Given the description of an element on the screen output the (x, y) to click on. 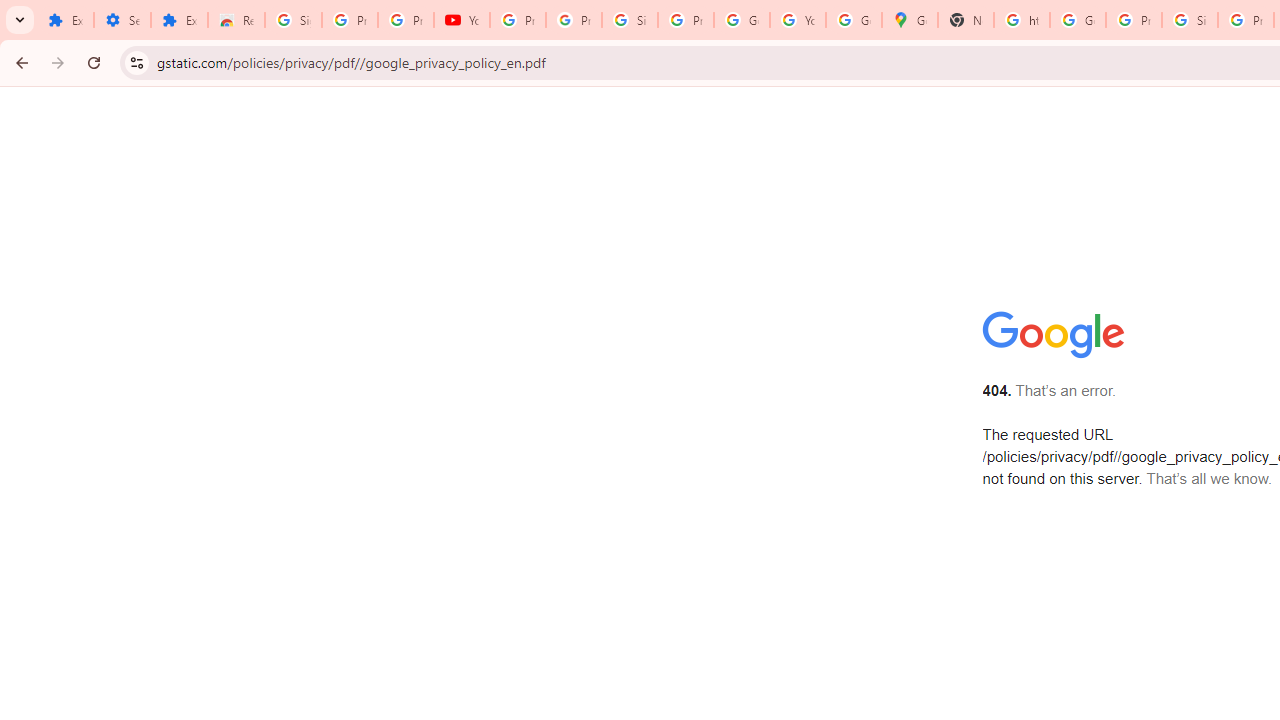
https://scholar.google.com/ (1021, 20)
YouTube (461, 20)
Google Account (742, 20)
